Given the description of an element on the screen output the (x, y) to click on. 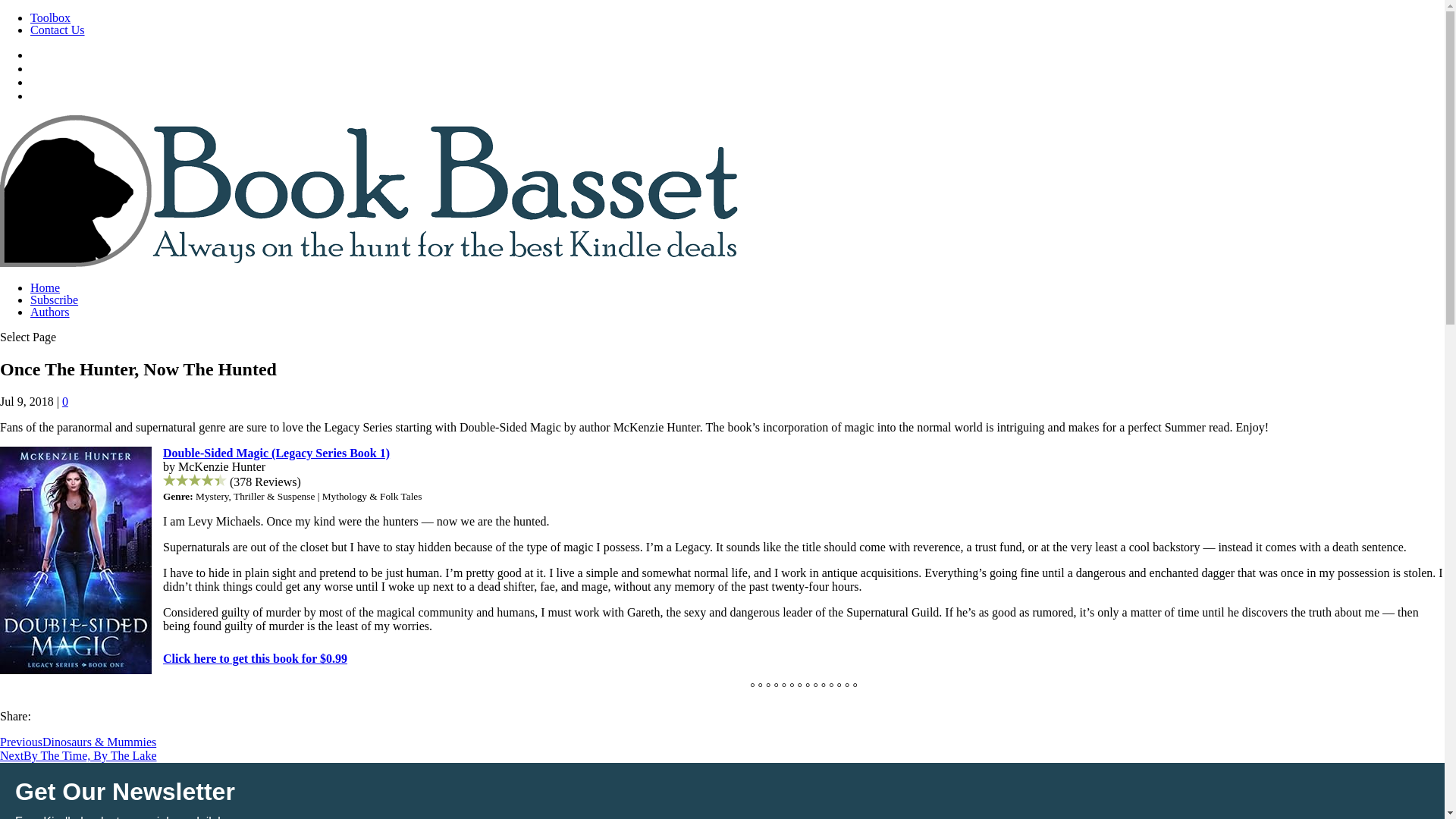
Subscribe (54, 299)
Authors (49, 311)
4.4 Stars (195, 480)
Home (44, 287)
NextBy The Time, By The Lake (78, 755)
Toolbox (49, 17)
Contact Us (57, 29)
